Given the description of an element on the screen output the (x, y) to click on. 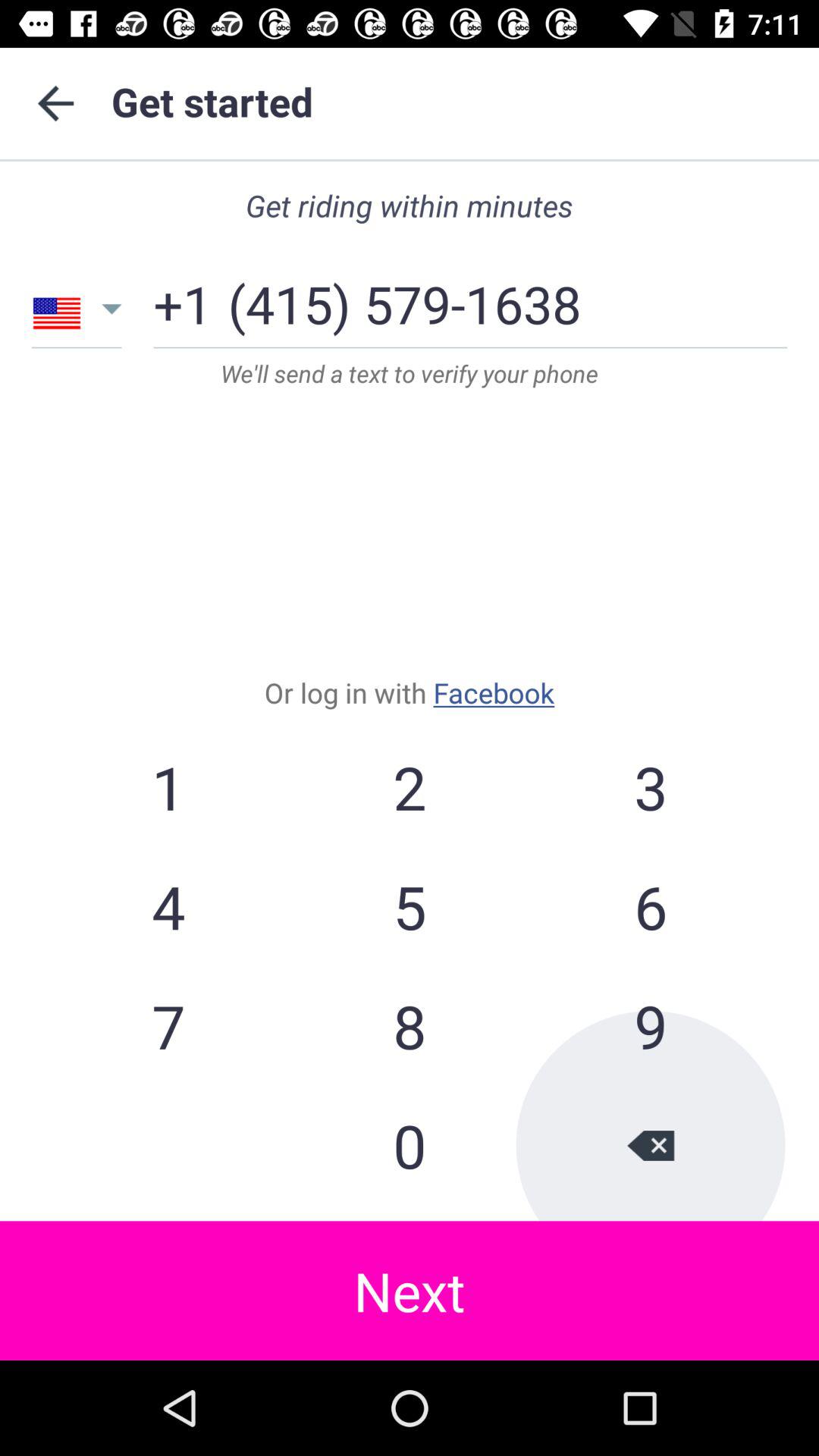
scroll until 8 (409, 1025)
